Given the description of an element on the screen output the (x, y) to click on. 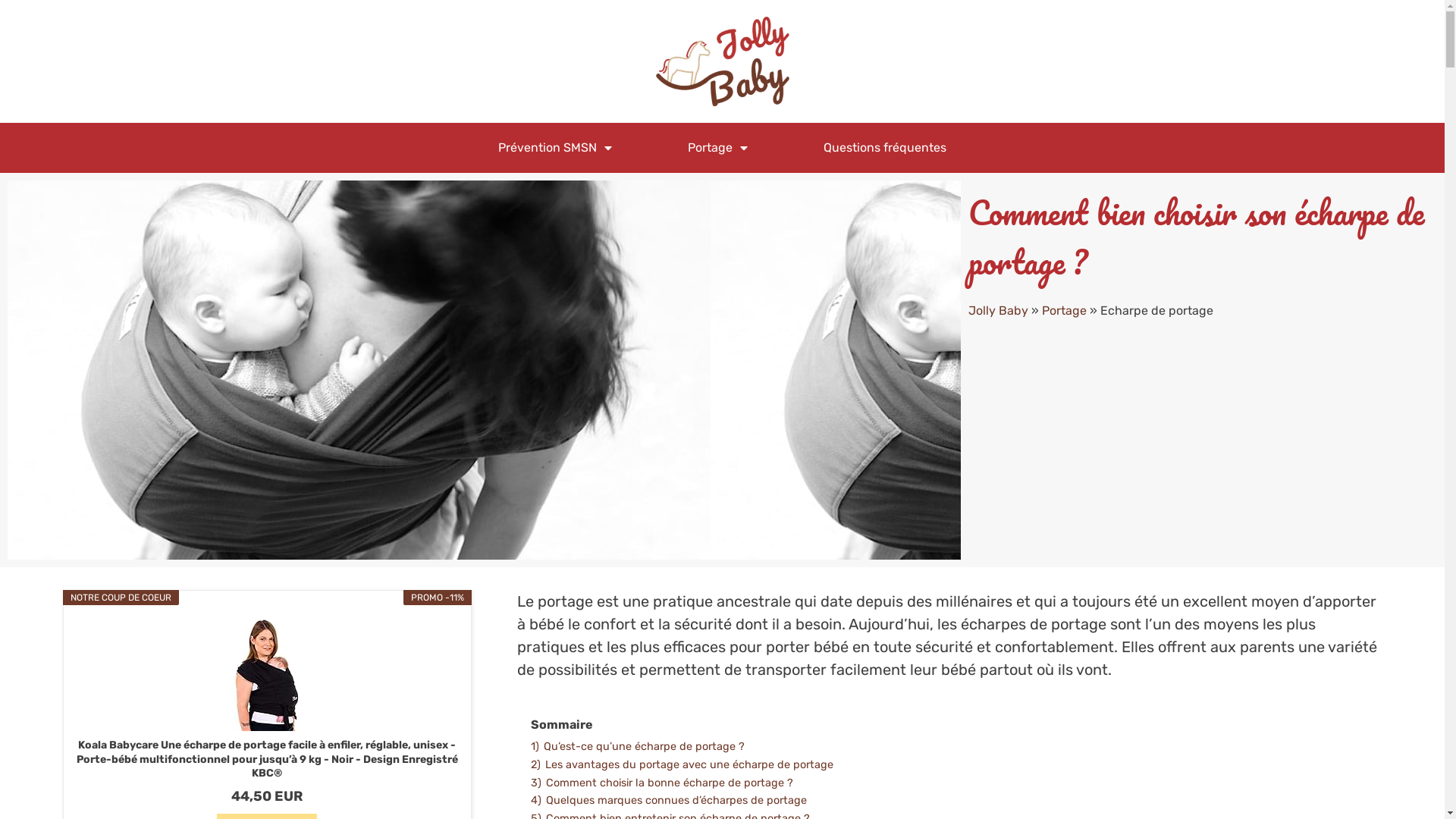
Portage Element type: text (1063, 310)
Portage Element type: text (717, 147)
Jolly Baby Element type: text (998, 310)
